Given the description of an element on the screen output the (x, y) to click on. 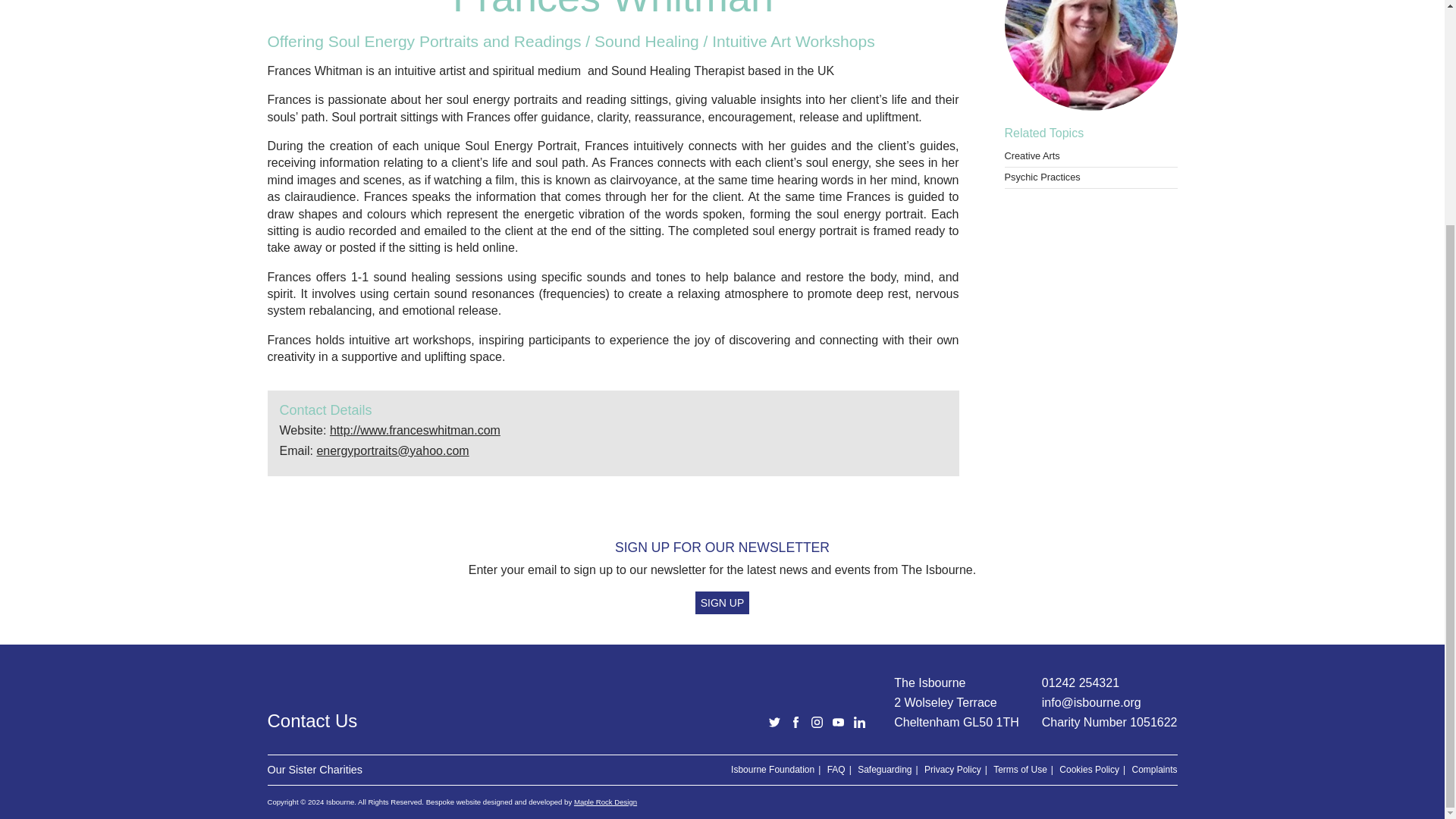
Isbourne (797, 722)
Creative Arts (1031, 155)
TheIsbourne (839, 722)
Safeguarding (884, 769)
01242 254321 (1080, 682)
FAQ (836, 769)
Isbourne Foundation (771, 769)
LinkedIn (860, 722)
Terms of Use (1019, 769)
Contact Us (504, 721)
